Given the description of an element on the screen output the (x, y) to click on. 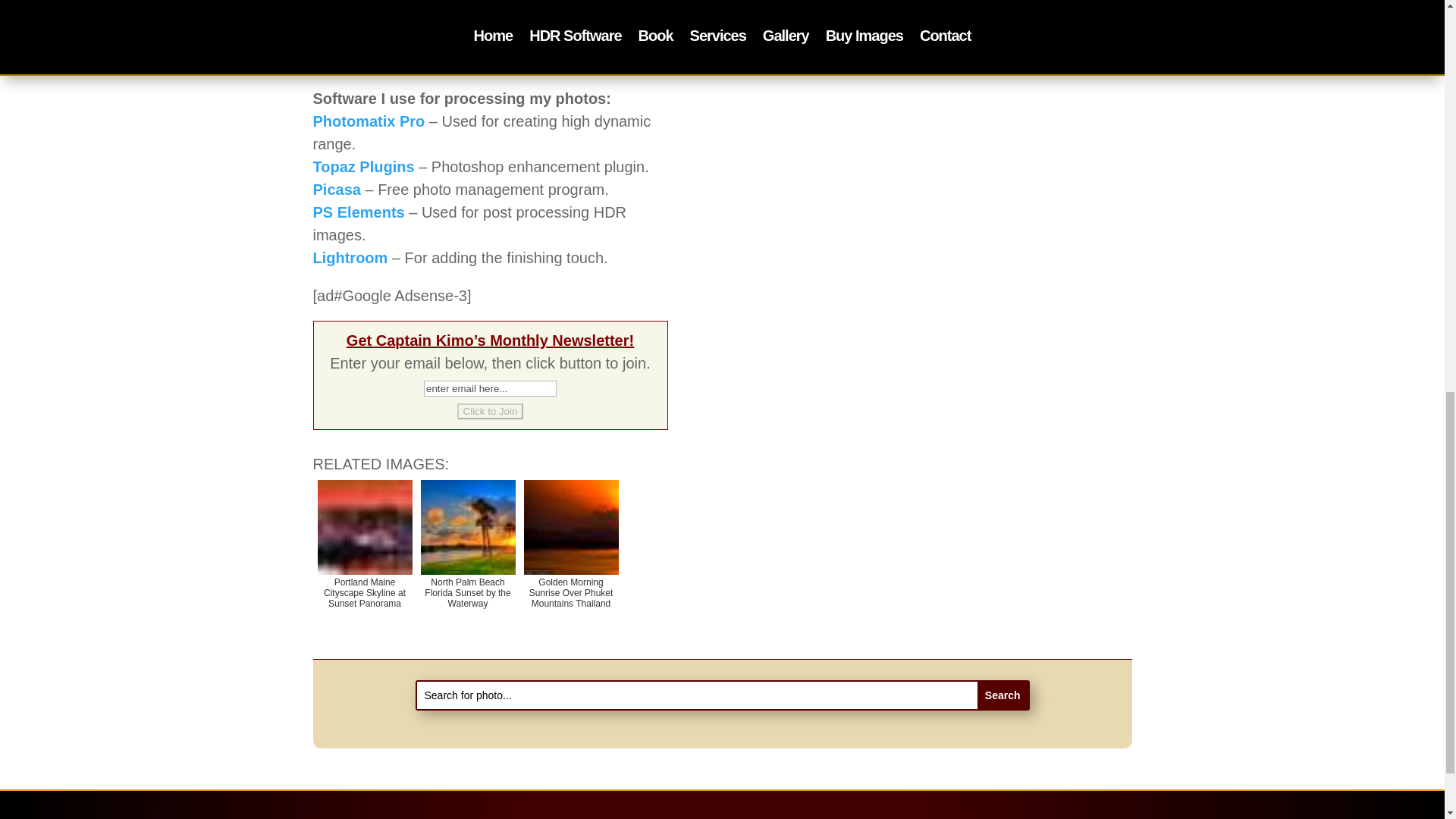
Picasa (336, 189)
Click to Join (490, 411)
Search (1001, 695)
PS Elements (358, 211)
enter email here... (489, 388)
Click to Join (490, 411)
Search (1001, 695)
Search (1001, 695)
Photomatix Pro (369, 121)
Lightroom (350, 257)
Topaz Plugins (363, 166)
